Given the description of an element on the screen output the (x, y) to click on. 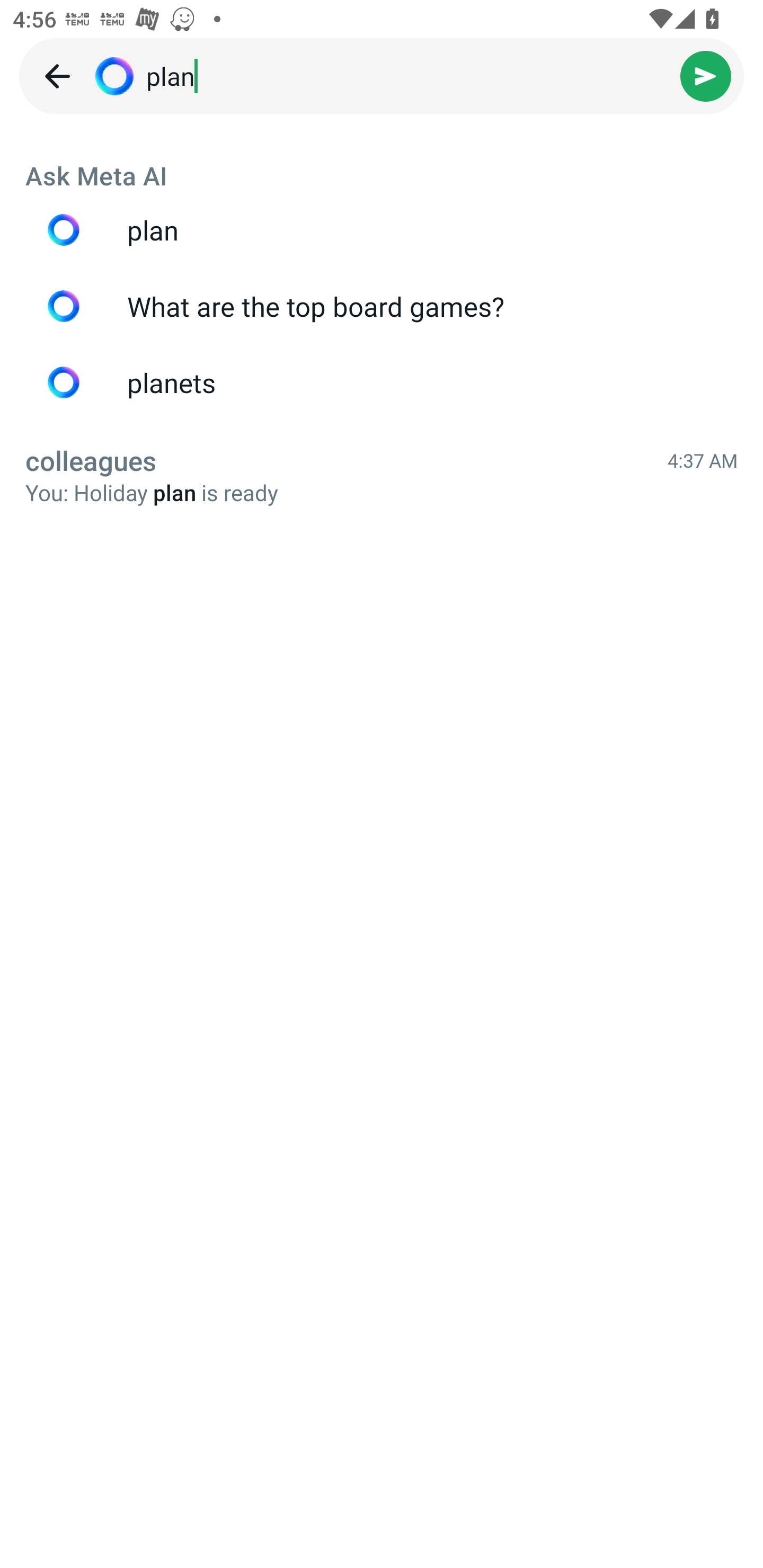
Back (57, 75)
​plan (413, 75)
Send (705, 75)
plan (381, 229)
What are the top board games? (381, 306)
planets (381, 382)
